Given the description of an element on the screen output the (x, y) to click on. 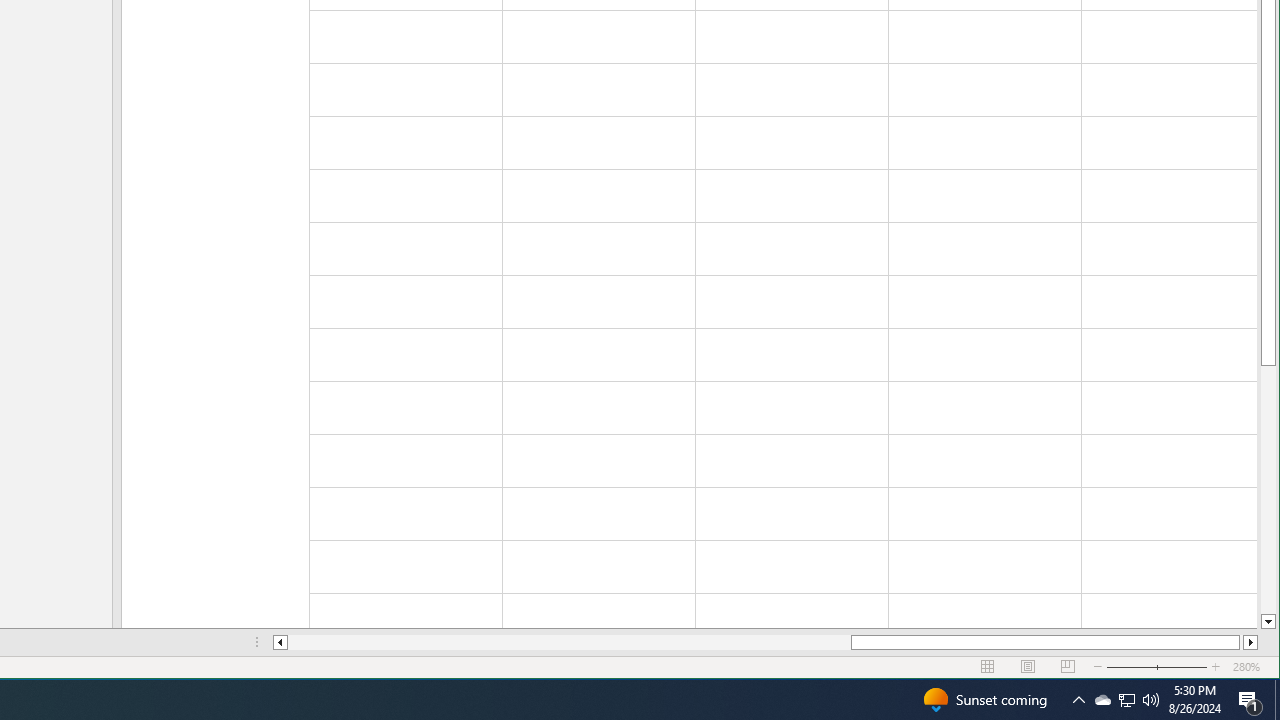
Action Center, 1 new notification (1250, 699)
Sunset coming (984, 699)
